Given the description of an element on the screen output the (x, y) to click on. 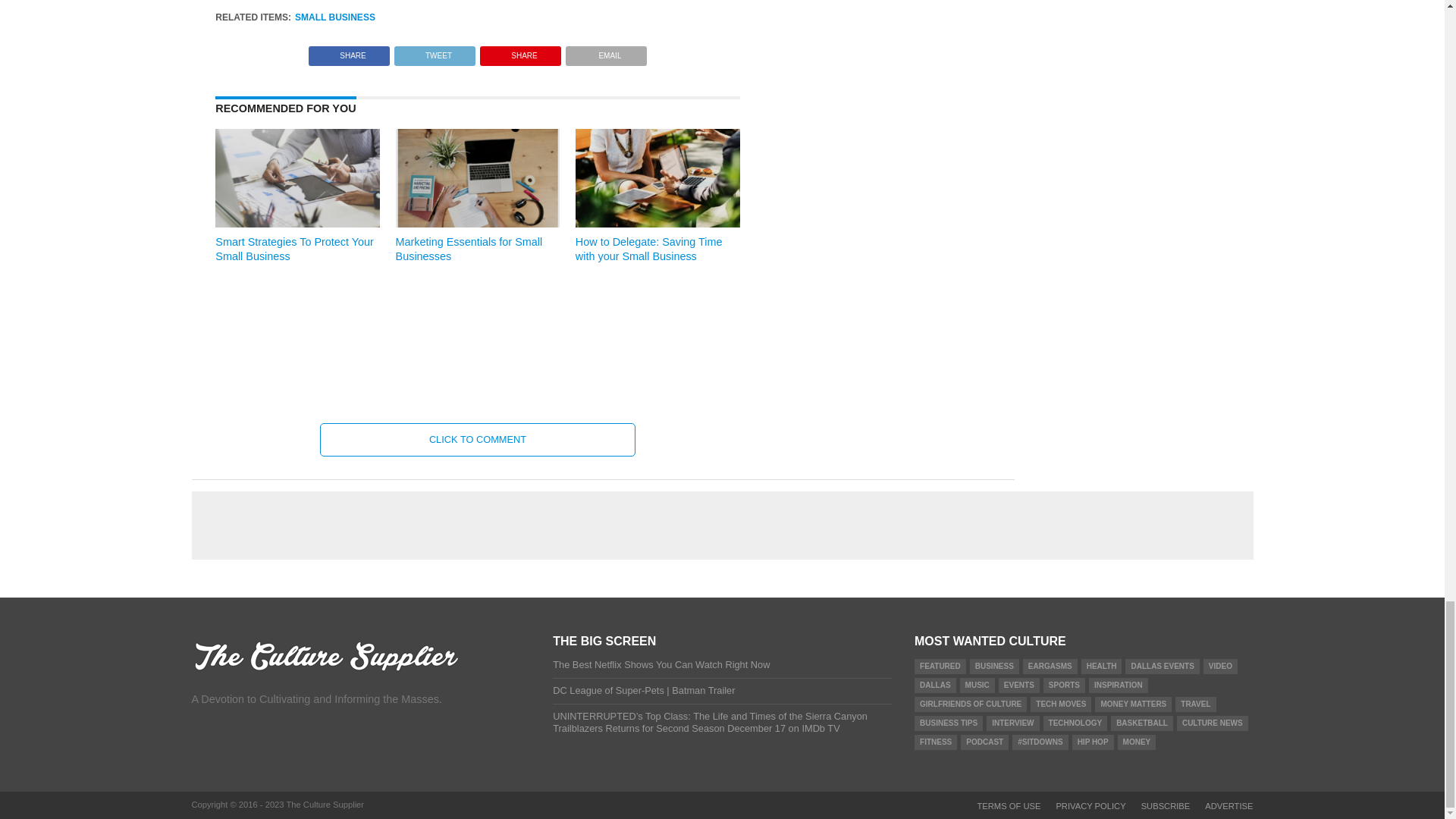
How to Delegate: Saving Time with your Small Business (657, 223)
Share on Facebook (349, 51)
Tweet This Post (434, 51)
Smart Strategies To Protect Your Small Business (297, 223)
Pin This Post (520, 51)
Marketing Essentials for Small Businesses (478, 223)
